Given the description of an element on the screen output the (x, y) to click on. 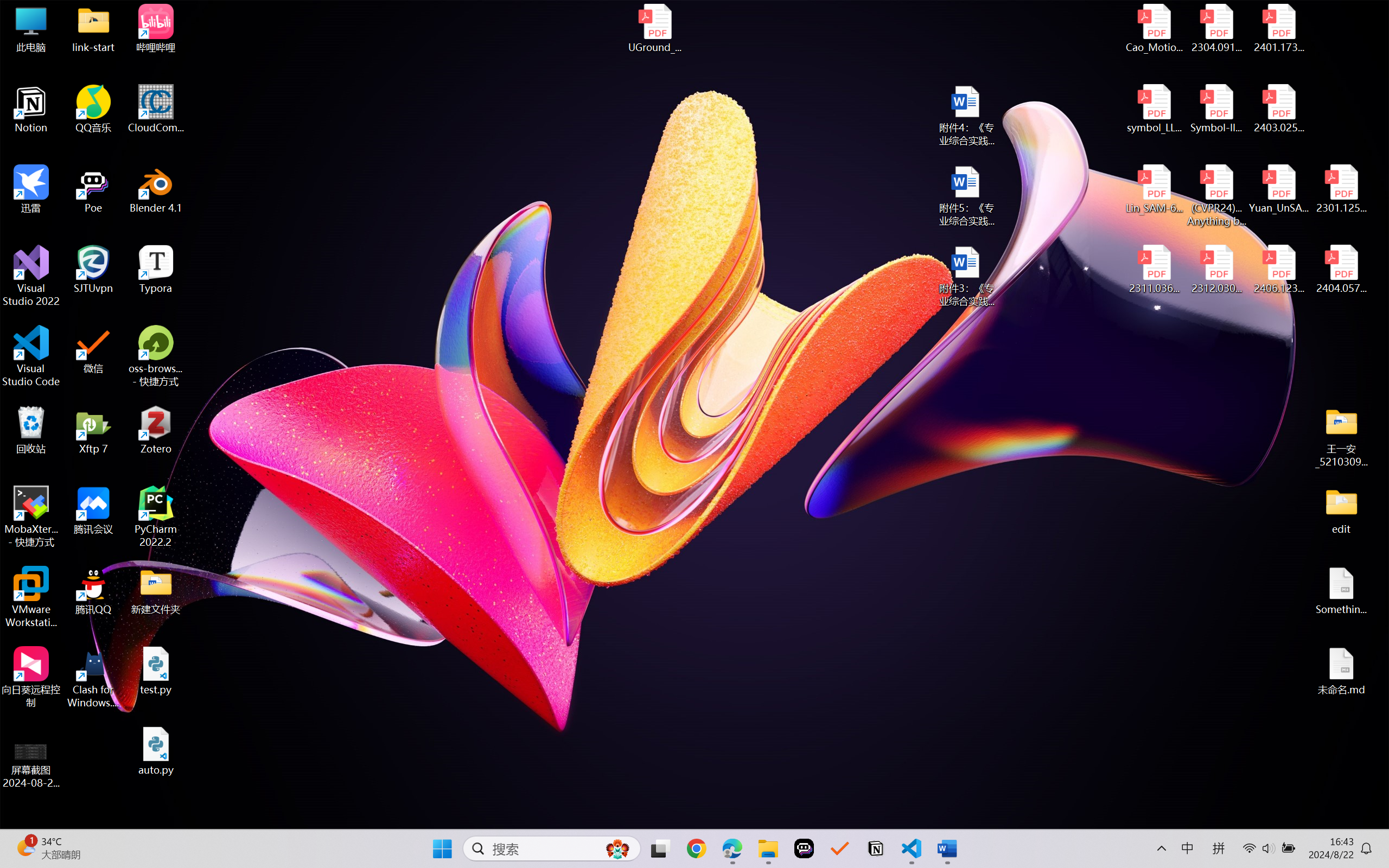
2304.09121v3.pdf (1216, 28)
UGround_paper.pdf (654, 28)
VMware Workstation Pro (31, 597)
Symbol-llm-v2.pdf (1216, 109)
